Given the description of an element on the screen output the (x, y) to click on. 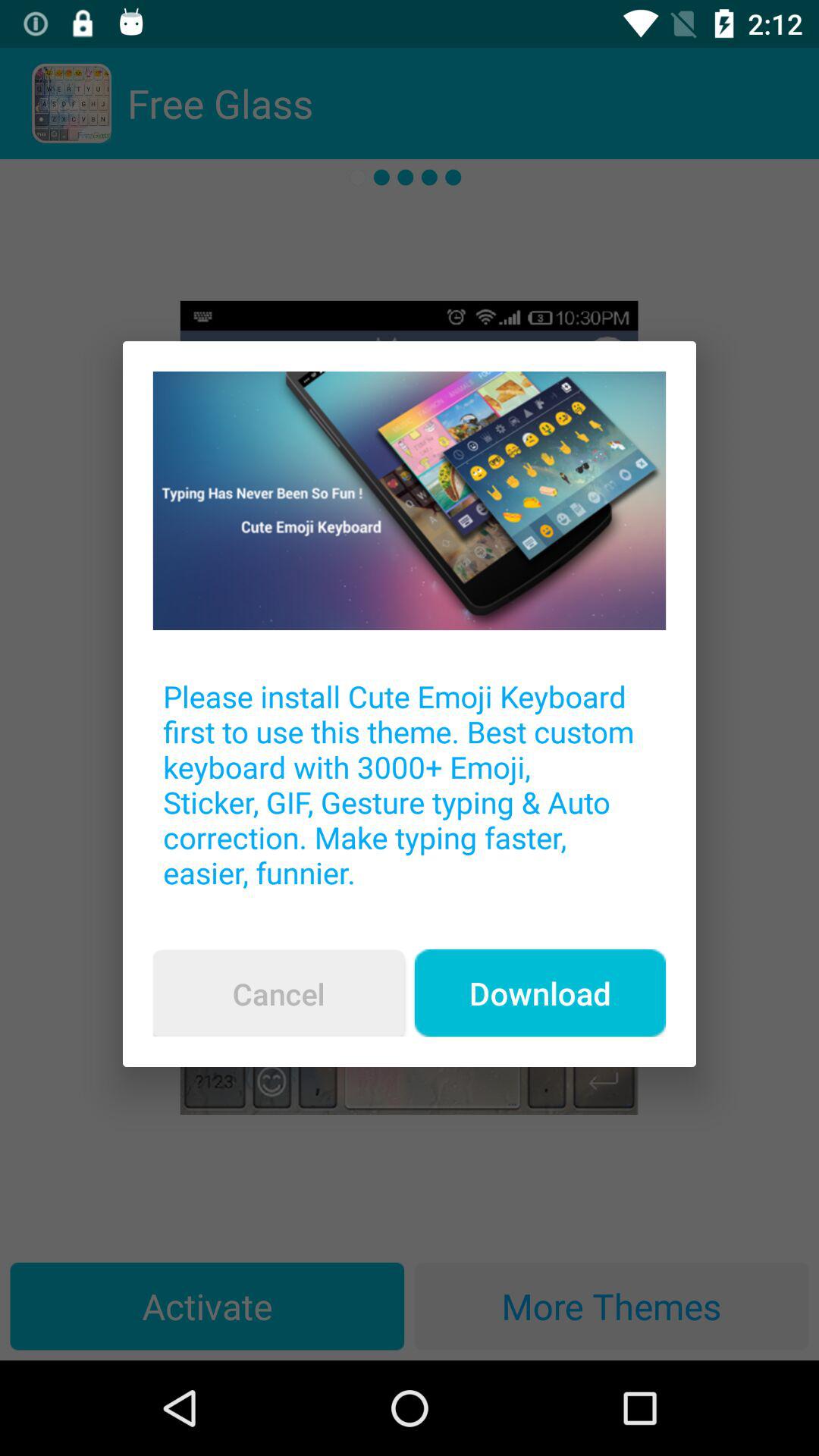
click item below please install cute item (278, 993)
